Given the description of an element on the screen output the (x, y) to click on. 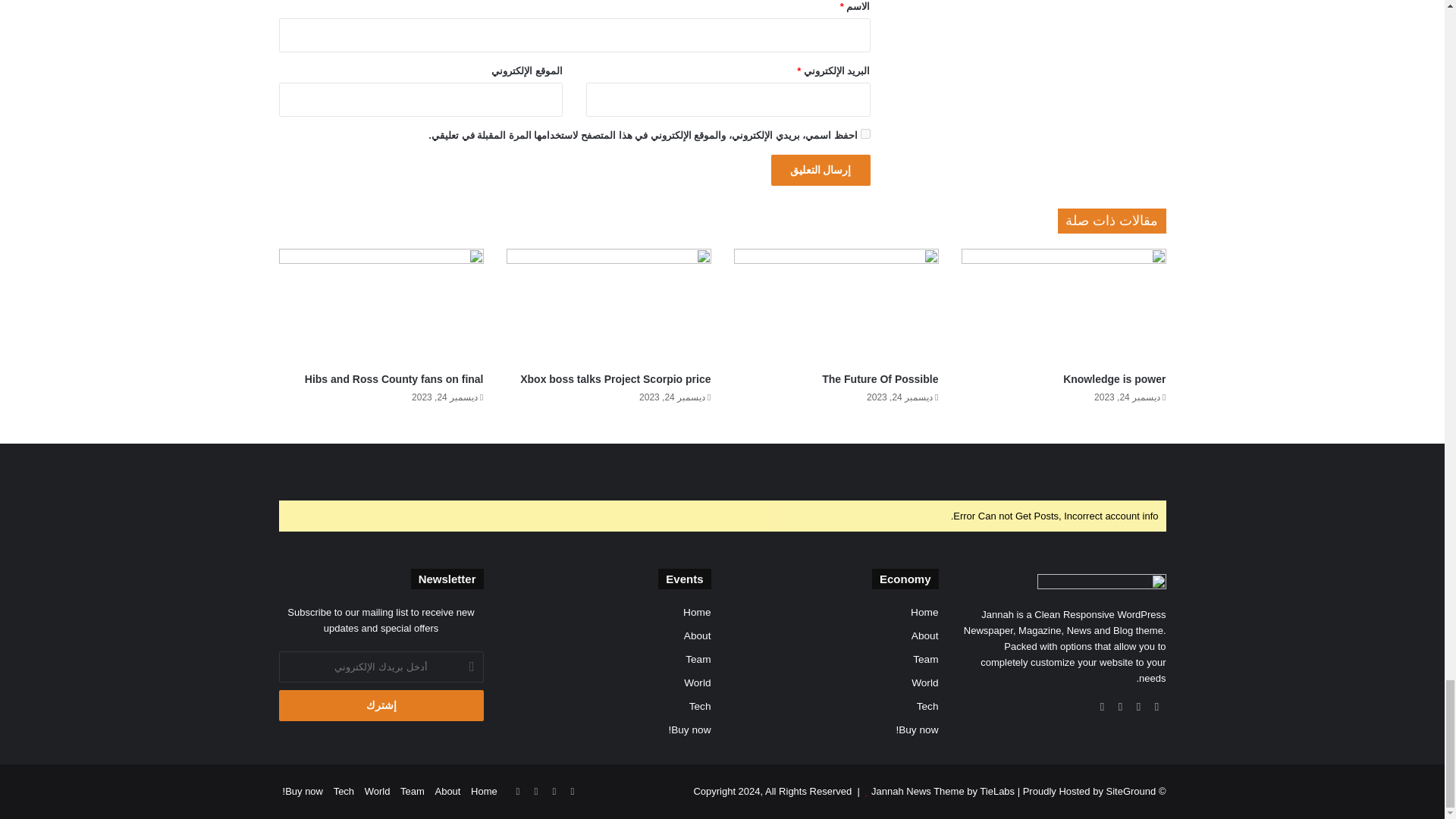
yes (864, 133)
